Given the description of an element on the screen output the (x, y) to click on. 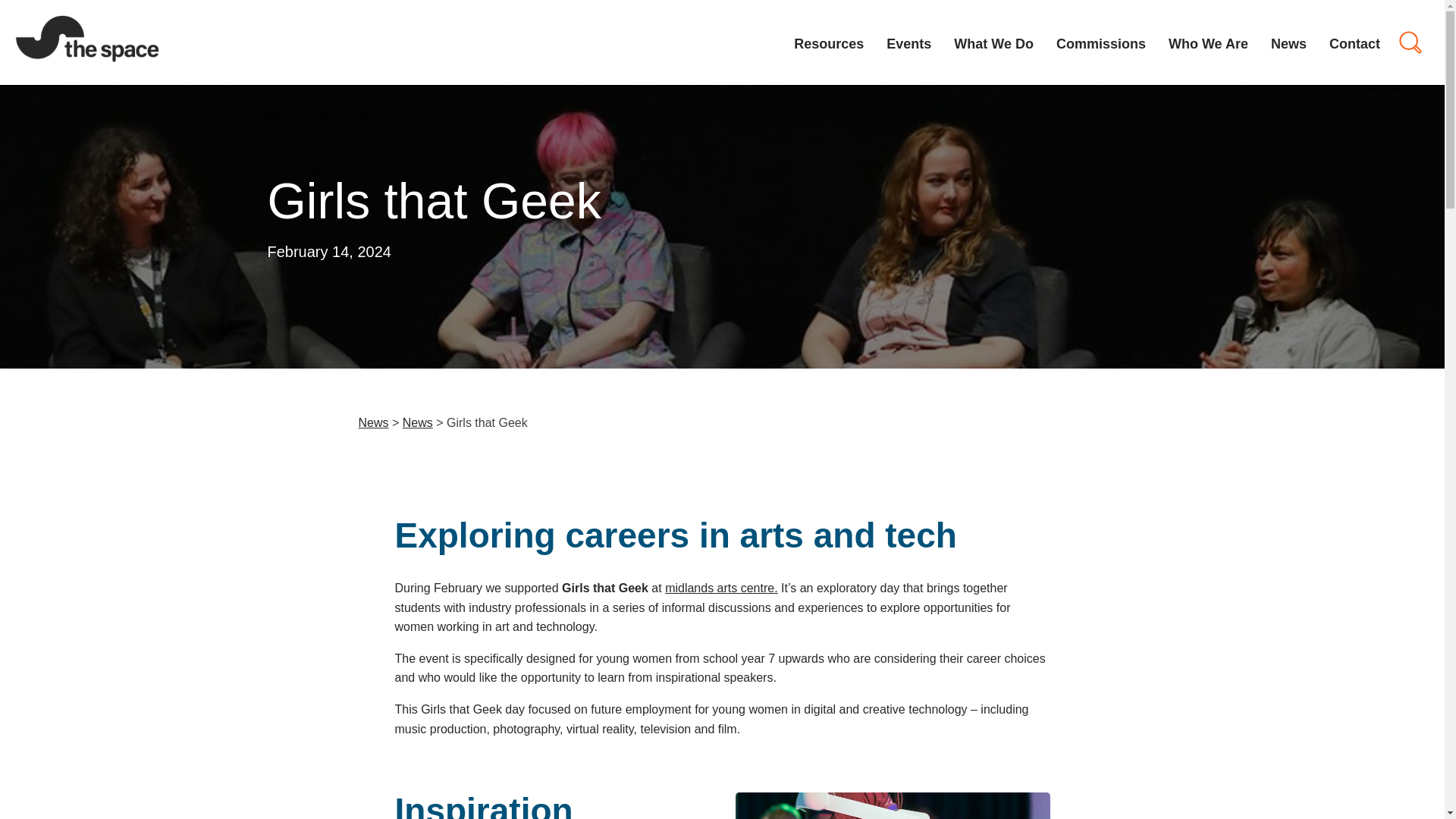
News (1288, 42)
News (373, 422)
What We Do (993, 42)
midlands arts centre. (721, 587)
News (417, 422)
Who We Are (1208, 42)
Commissions (1101, 42)
Search Icon (1410, 42)
Contact (1354, 42)
Events (908, 42)
Resources (829, 42)
